Given the description of an element on the screen output the (x, y) to click on. 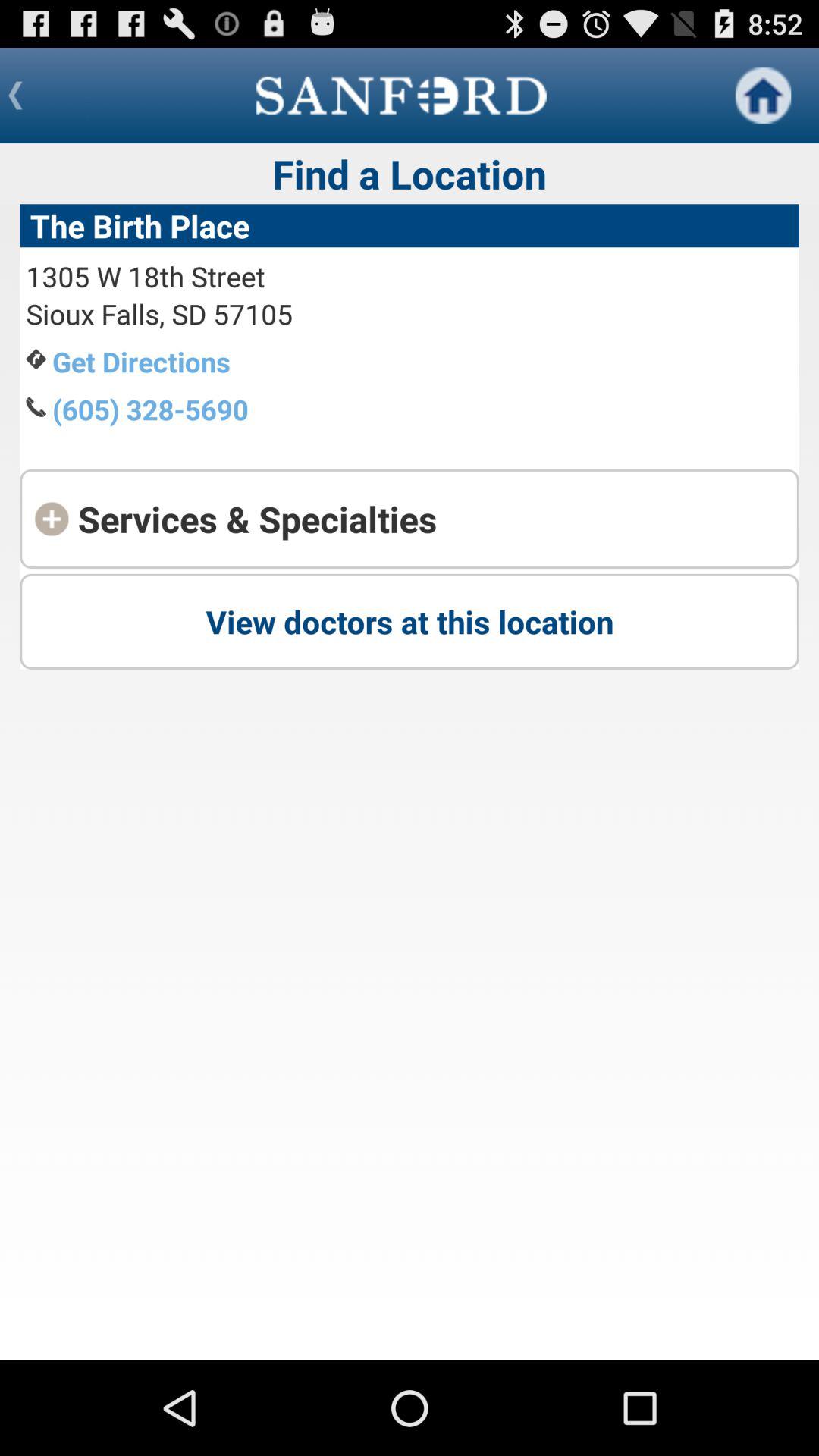
click the item above the (605) 328-5690 (141, 361)
